Given the description of an element on the screen output the (x, y) to click on. 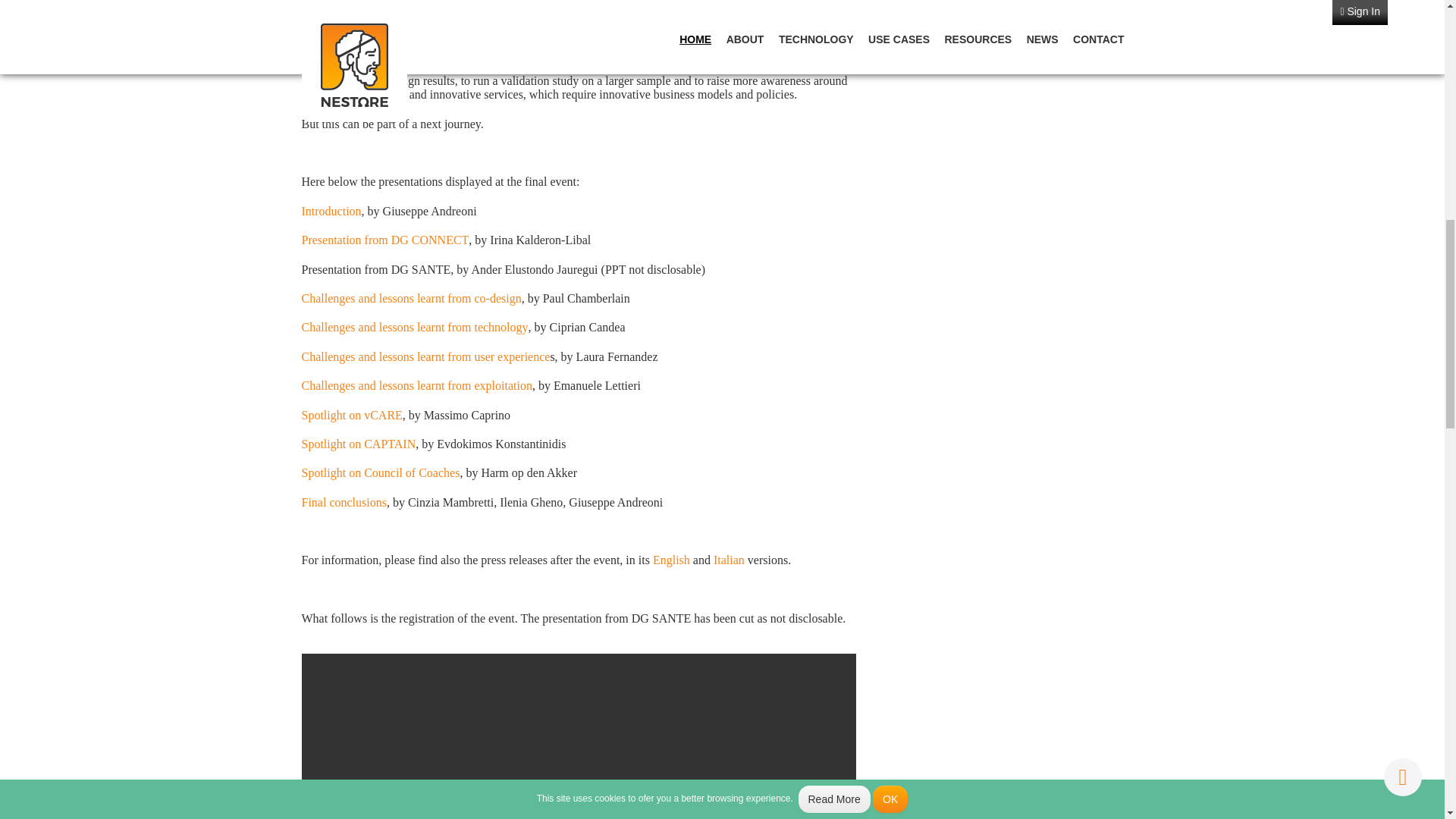
Challenges and lessons learnt from technology (414, 327)
Challenges and lessons learnt from user experience (425, 356)
Introduction (331, 210)
Challenges and lessons learnt from co-design (411, 297)
Presentation from DG CONNECT (384, 239)
